Given the description of an element on the screen output the (x, y) to click on. 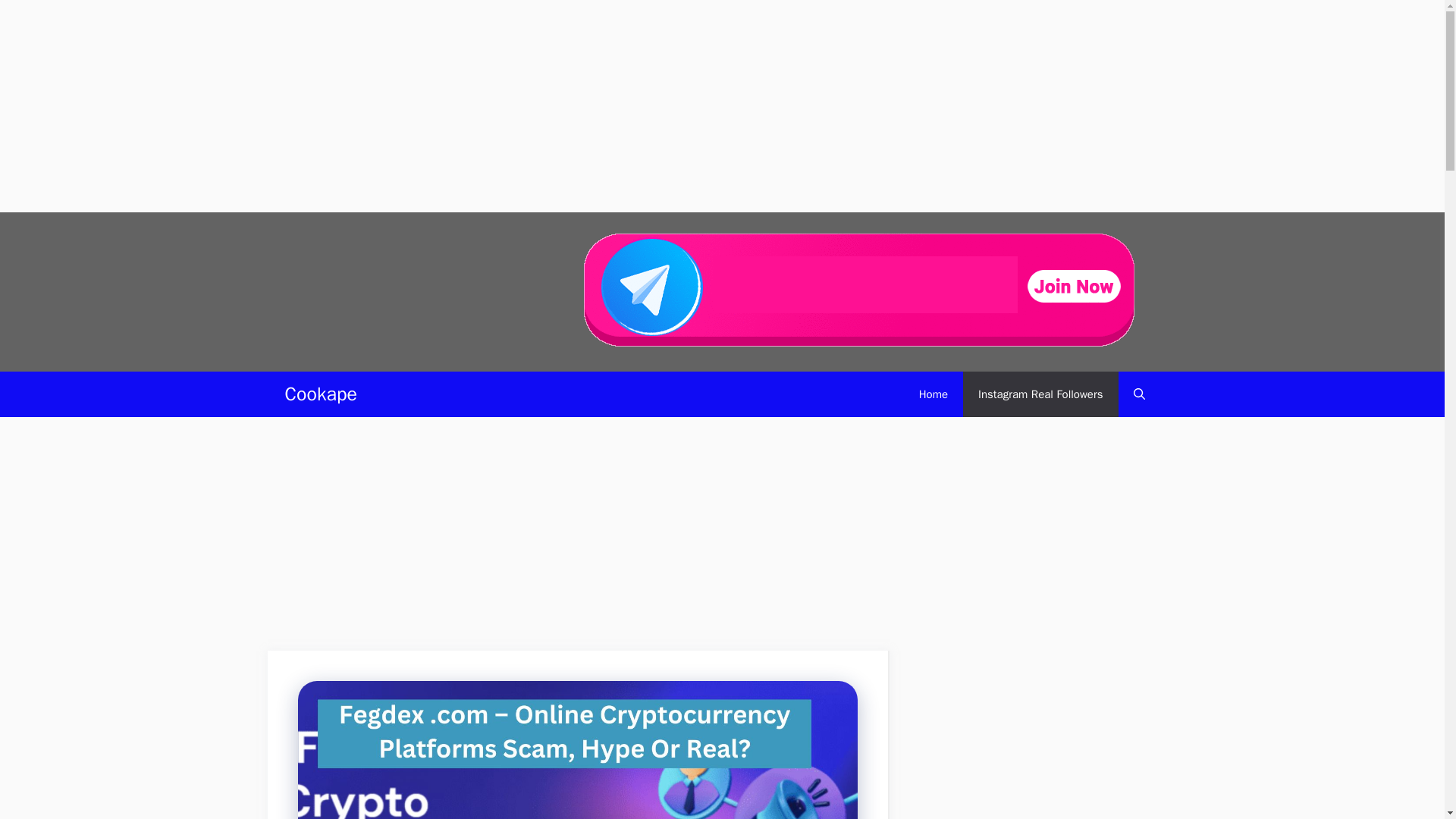
Instagram Real Followers (1040, 393)
Advertisement (577, 538)
Home (933, 393)
Cookape (320, 393)
